Given the description of an element on the screen output the (x, y) to click on. 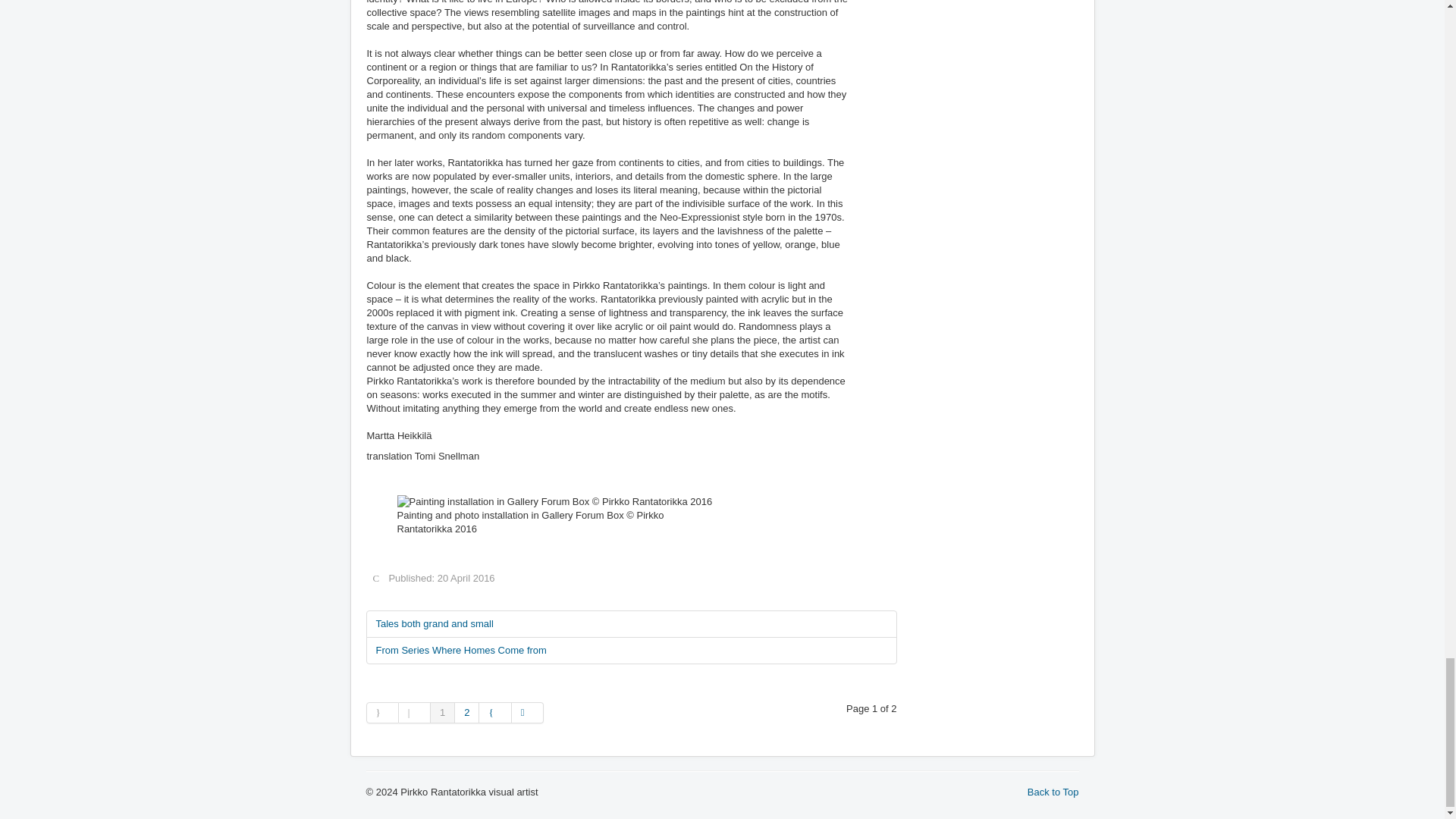
Tales both grand and small (630, 624)
2 (466, 712)
Back to Top (1052, 791)
From Series Where Homes Come from (630, 650)
1 (442, 712)
